Given the description of an element on the screen output the (x, y) to click on. 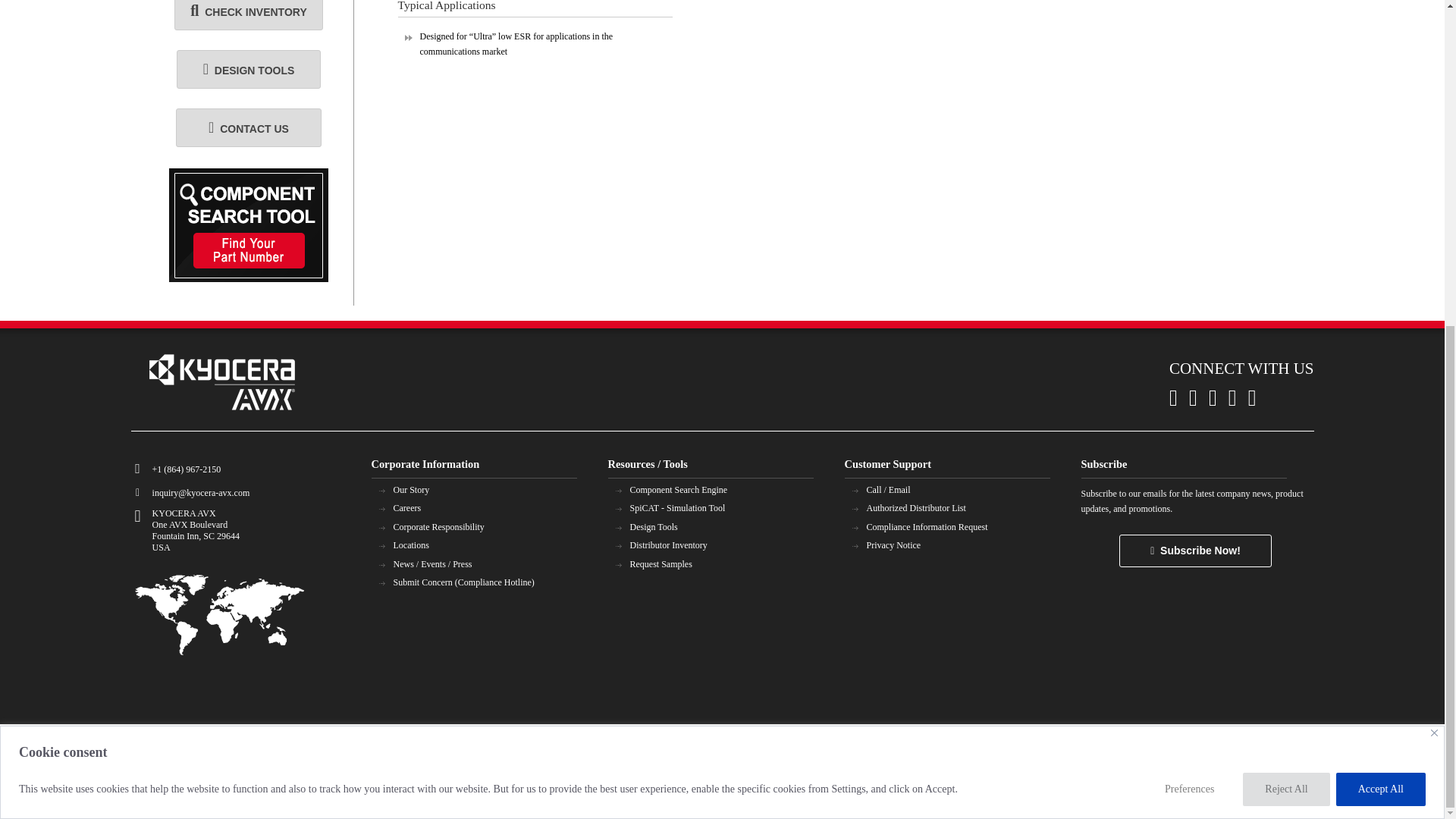
Newsletter Sign-Up (1195, 550)
Preferences (1194, 254)
Design Tools (248, 68)
Accept All (1380, 254)
Stock Check (247, 15)
Reject All (1286, 254)
Contact Us (248, 127)
